Given the description of an element on the screen output the (x, y) to click on. 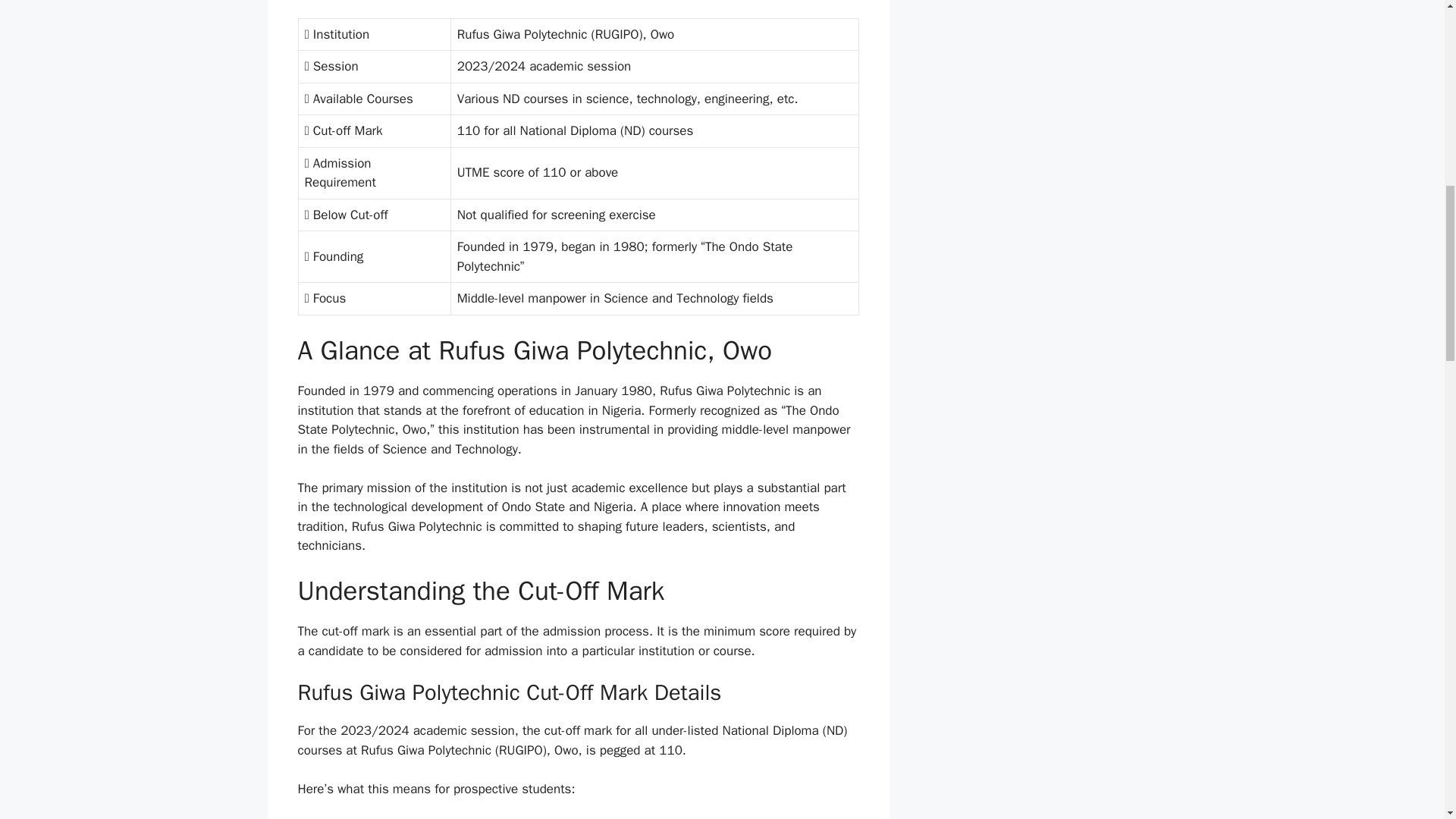
Scroll back to top (1406, 720)
